Given the description of an element on the screen output the (x, y) to click on. 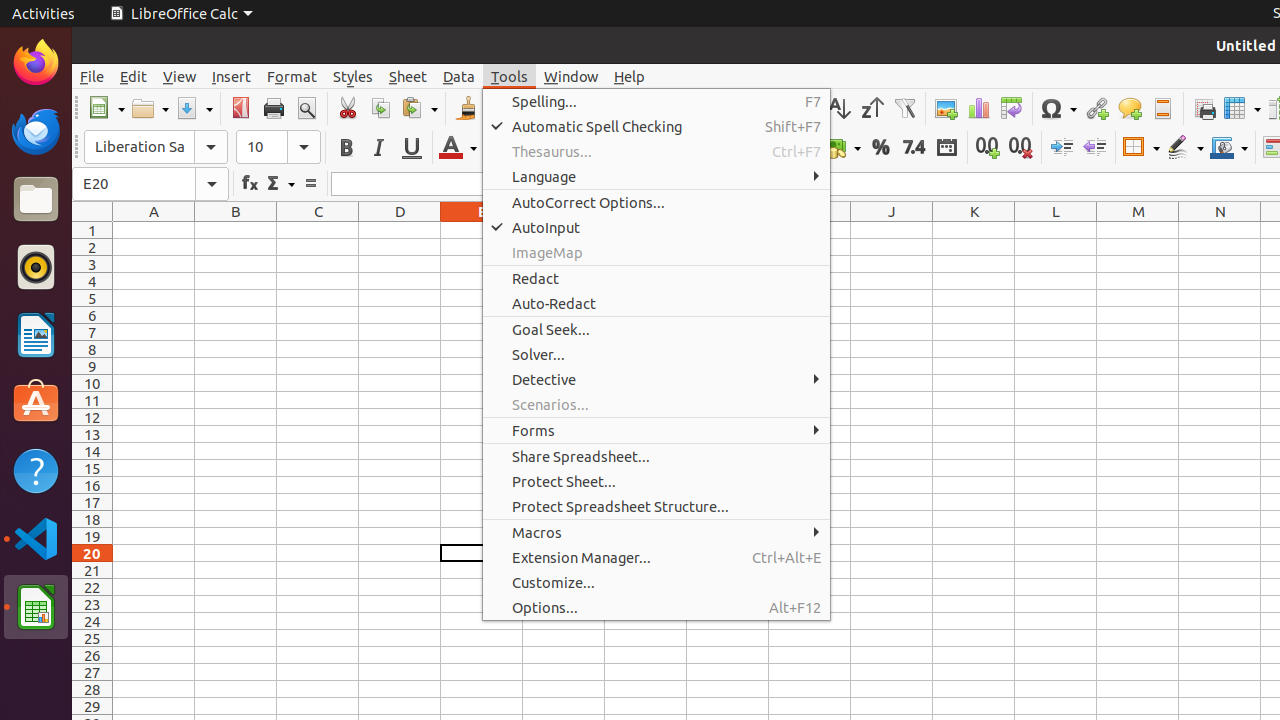
J1 Element type: table-cell (892, 230)
Options... Element type: menu-item (656, 607)
Hyperlink Element type: toggle-button (1096, 108)
K1 Element type: table-cell (974, 230)
Sort Descending Element type: push-button (871, 108)
